Given the description of an element on the screen output the (x, y) to click on. 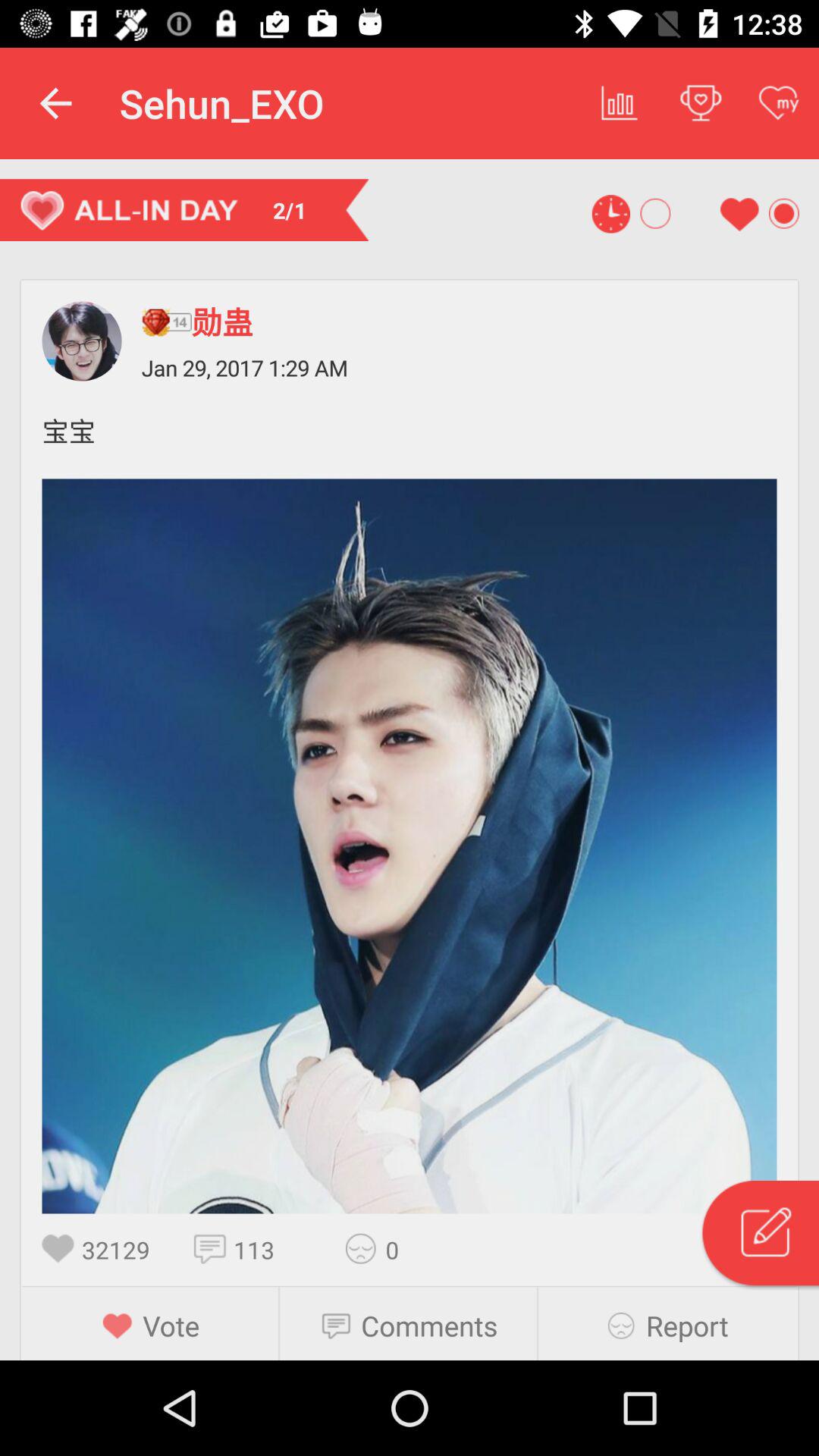
choose the icon to the left of the 32129 (61, 1248)
